Given the description of an element on the screen output the (x, y) to click on. 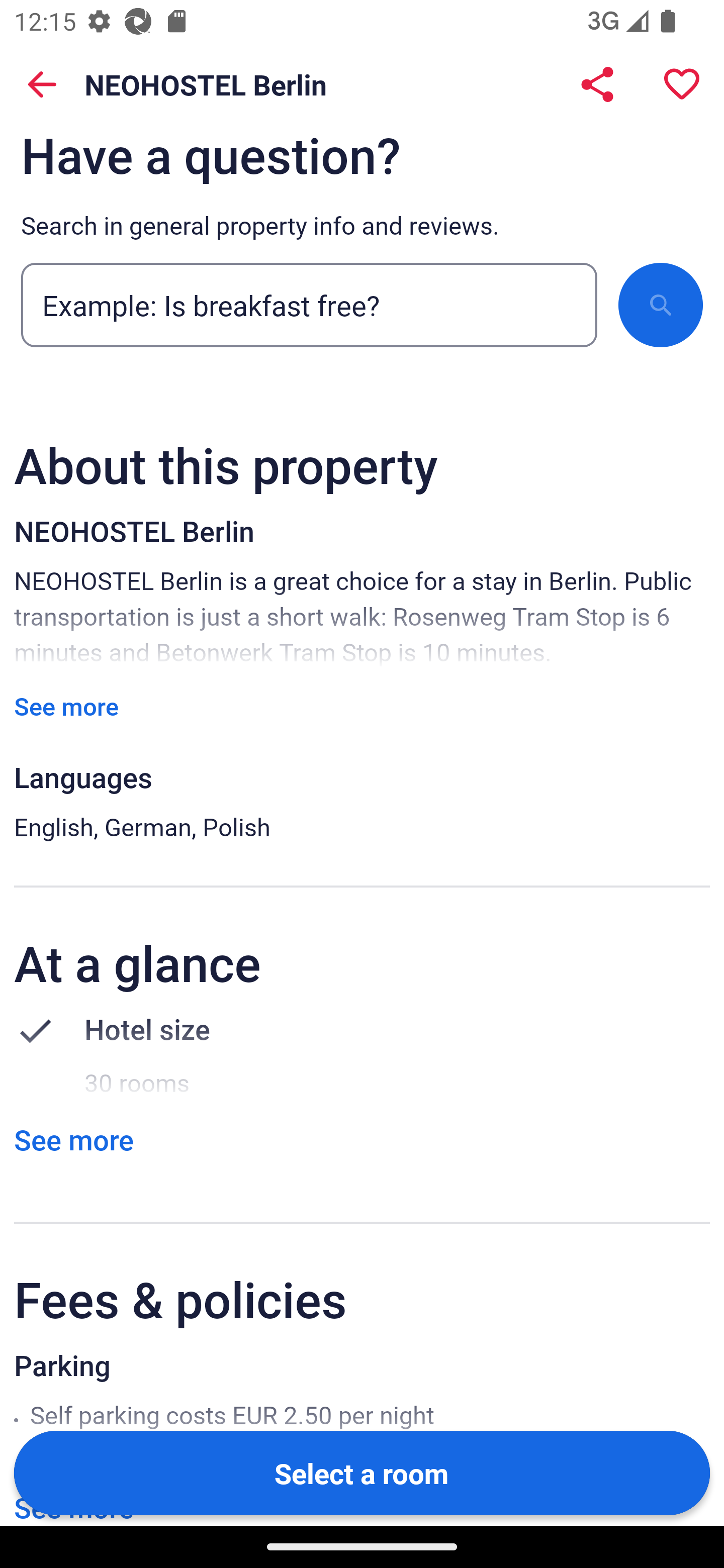
Back (42, 84)
Save property to a trip (681, 84)
Share NEOHOSTEL Berlin (597, 84)
Example: Is breakfast free? (308, 308)
Example: Is breakfast free? (308, 304)
See more See more Link (65, 705)
See more See more Link (73, 1139)
Select a room Button Select a room (361, 1472)
